Given the description of an element on the screen output the (x, y) to click on. 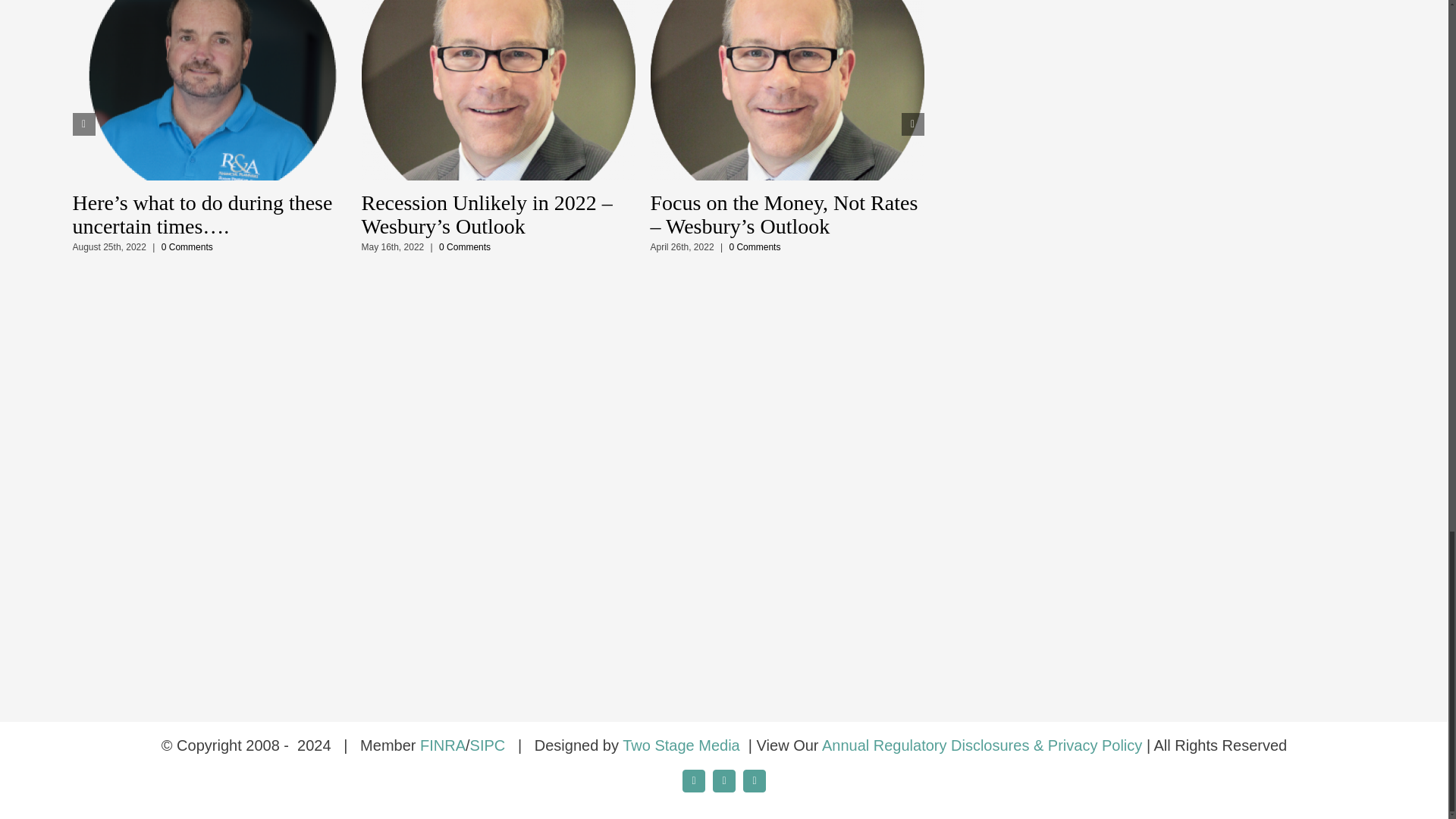
0 Comments (186, 246)
